Given the description of an element on the screen output the (x, y) to click on. 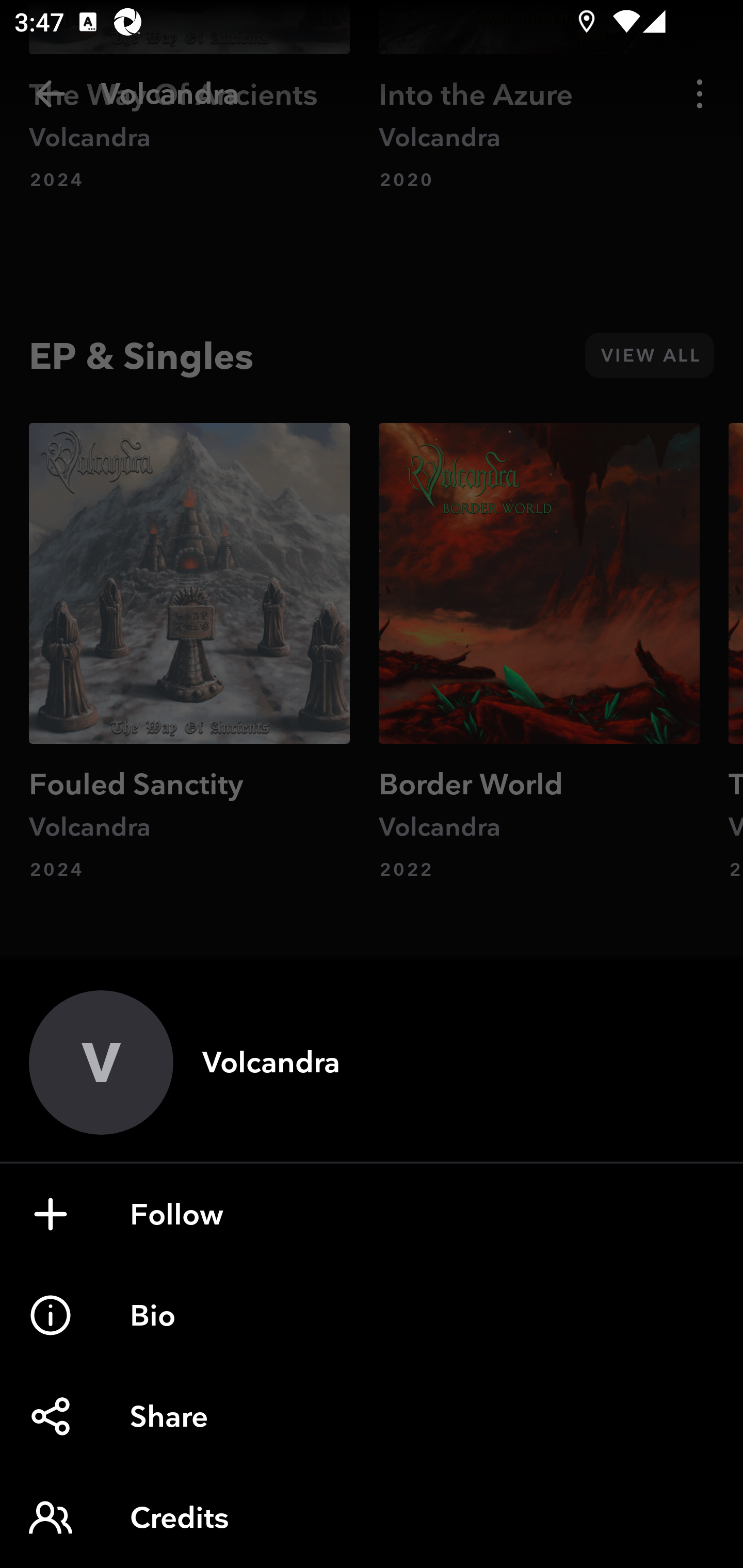
Follow (371, 1214)
Bio (371, 1315)
Share (371, 1416)
Credits (371, 1517)
